Given the description of an element on the screen output the (x, y) to click on. 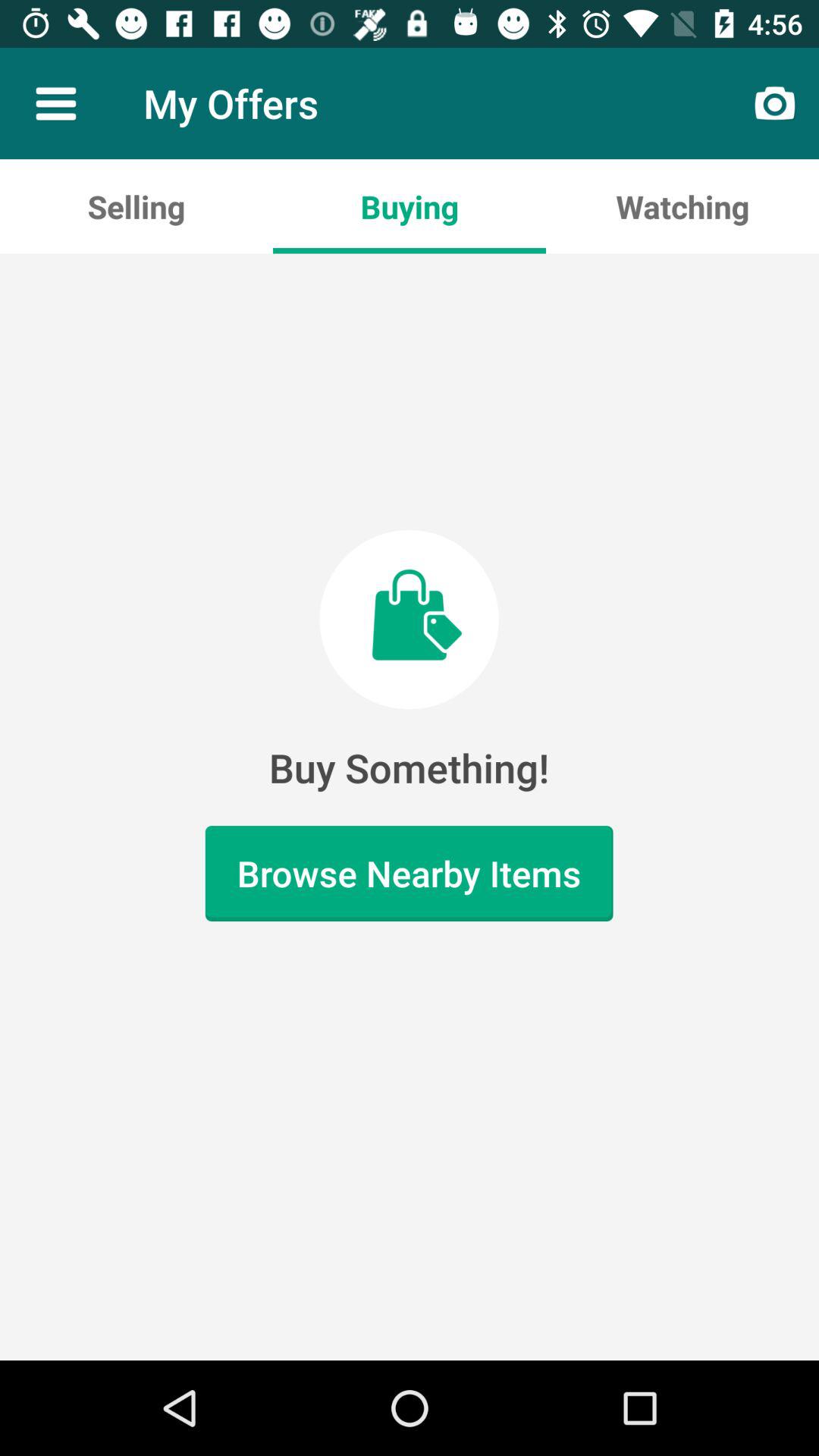
jump until buying icon (409, 206)
